Given the description of an element on the screen output the (x, y) to click on. 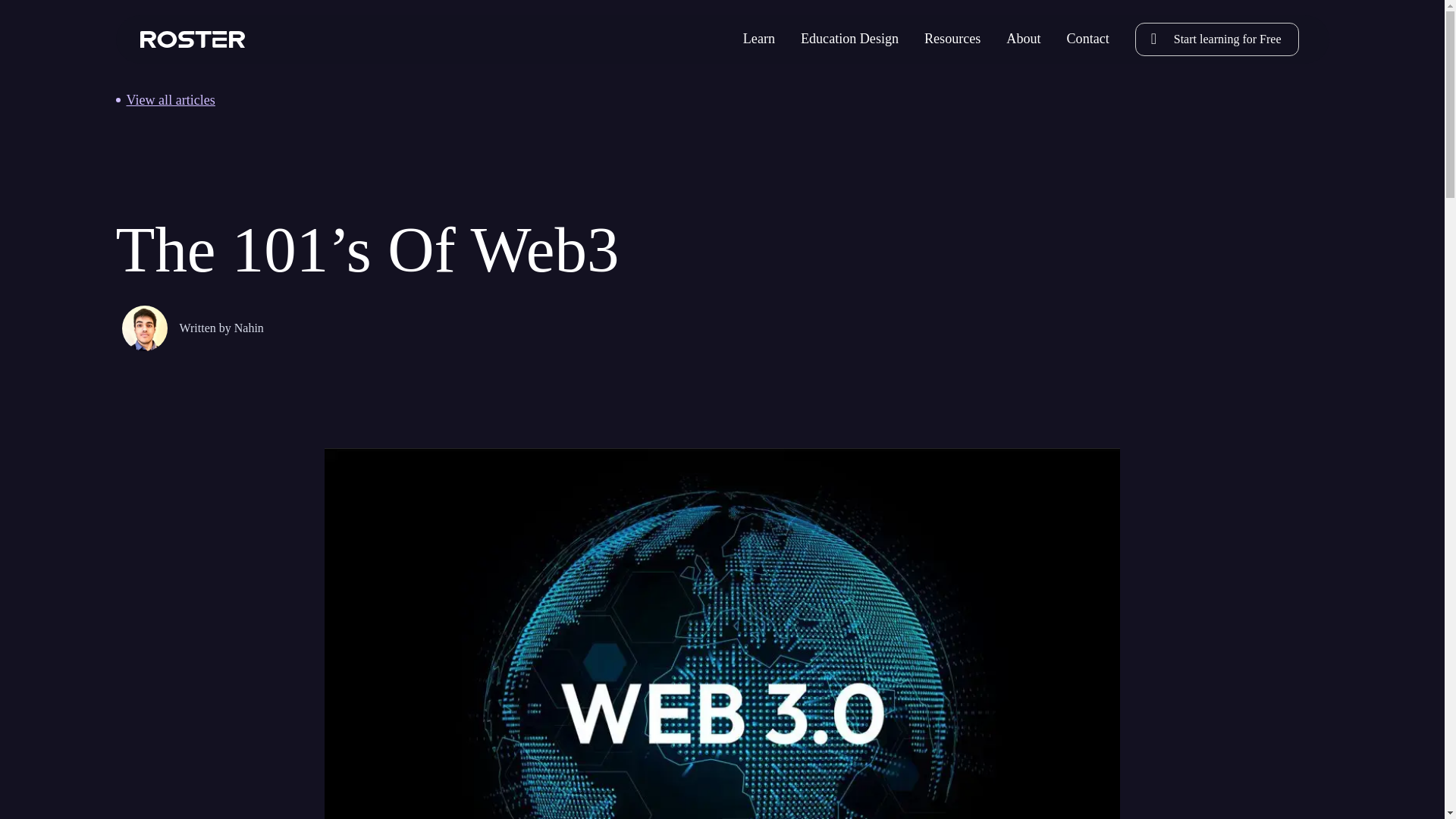
Start learning for Free (1216, 39)
Learn (758, 38)
View all articles (721, 99)
About (1023, 38)
Resources (951, 38)
Education Design (849, 38)
Contact (1088, 38)
